Given the description of an element on the screen output the (x, y) to click on. 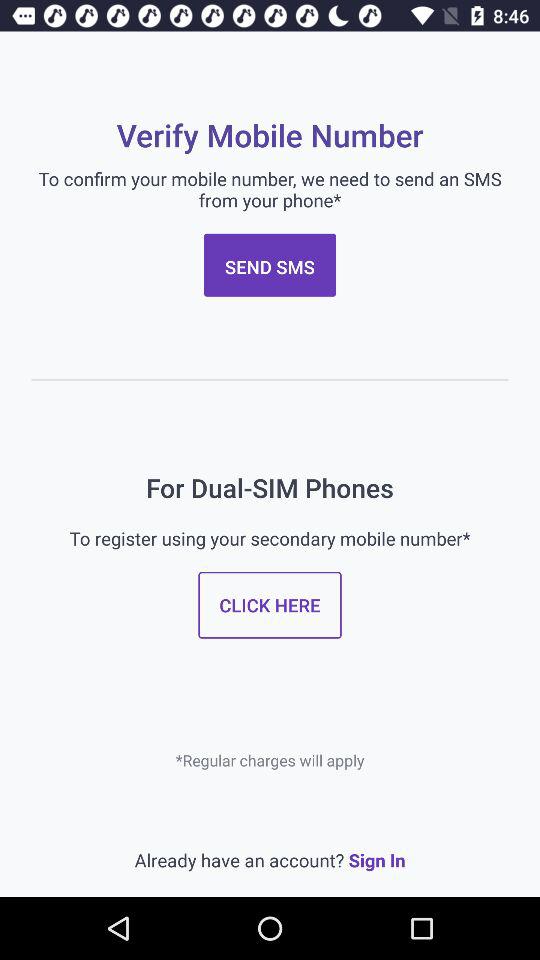
tap the item above regular charges will item (269, 604)
